Given the description of an element on the screen output the (x, y) to click on. 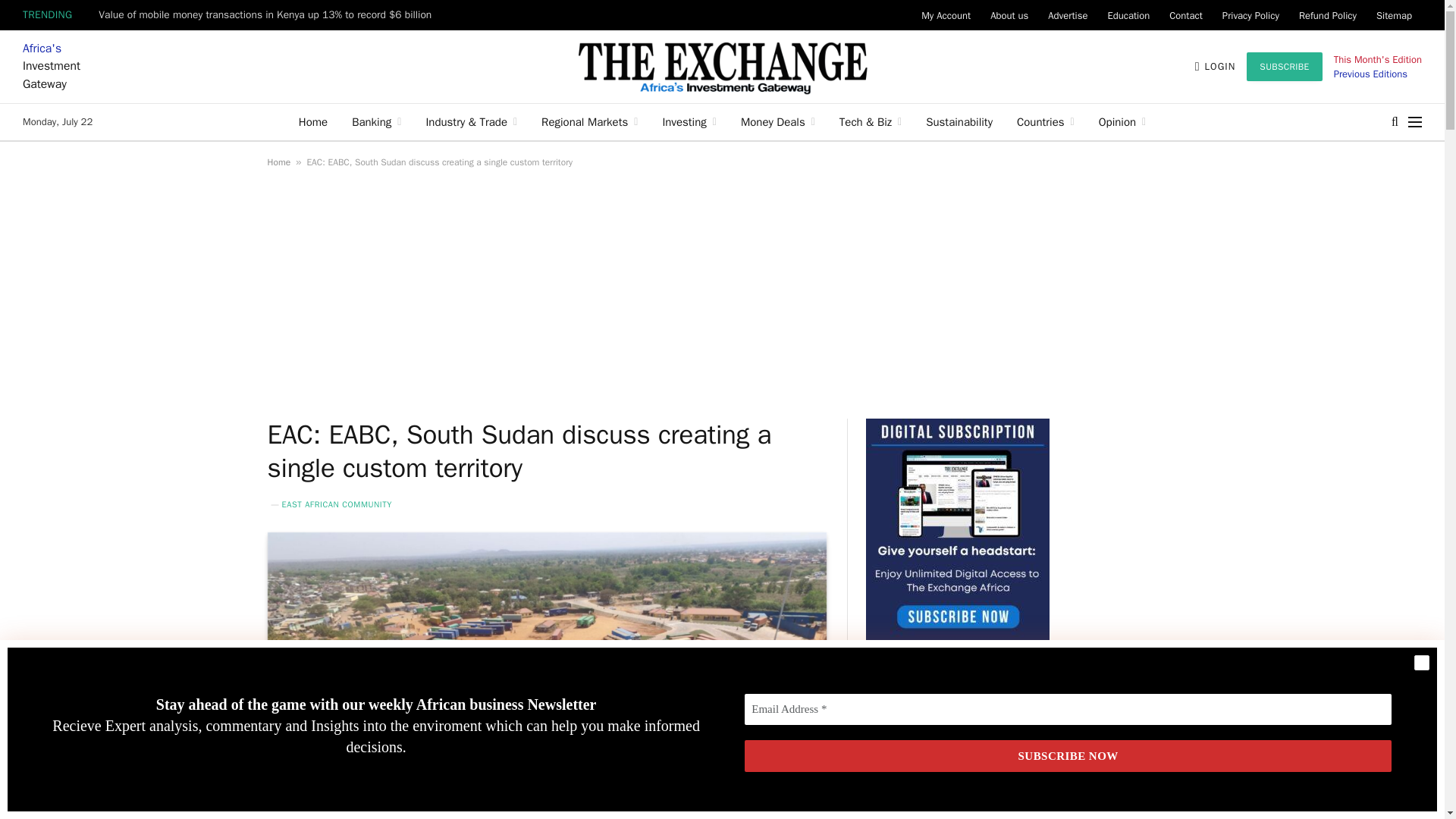
The Exchange (721, 66)
SUBSCRIBE (1284, 66)
LOGIN (1215, 66)
About us (1008, 15)
SUBSCRIBE NOW (1067, 756)
Education (1127, 15)
Contact (1185, 15)
Advertise (1067, 15)
Privacy Policy (1250, 15)
This Months Editions (1370, 73)
My Account (945, 15)
This Month's Edition (1377, 59)
Refund Policy (1327, 15)
Sitemap (1394, 15)
This Months Edition (1377, 59)
